Given the description of an element on the screen output the (x, y) to click on. 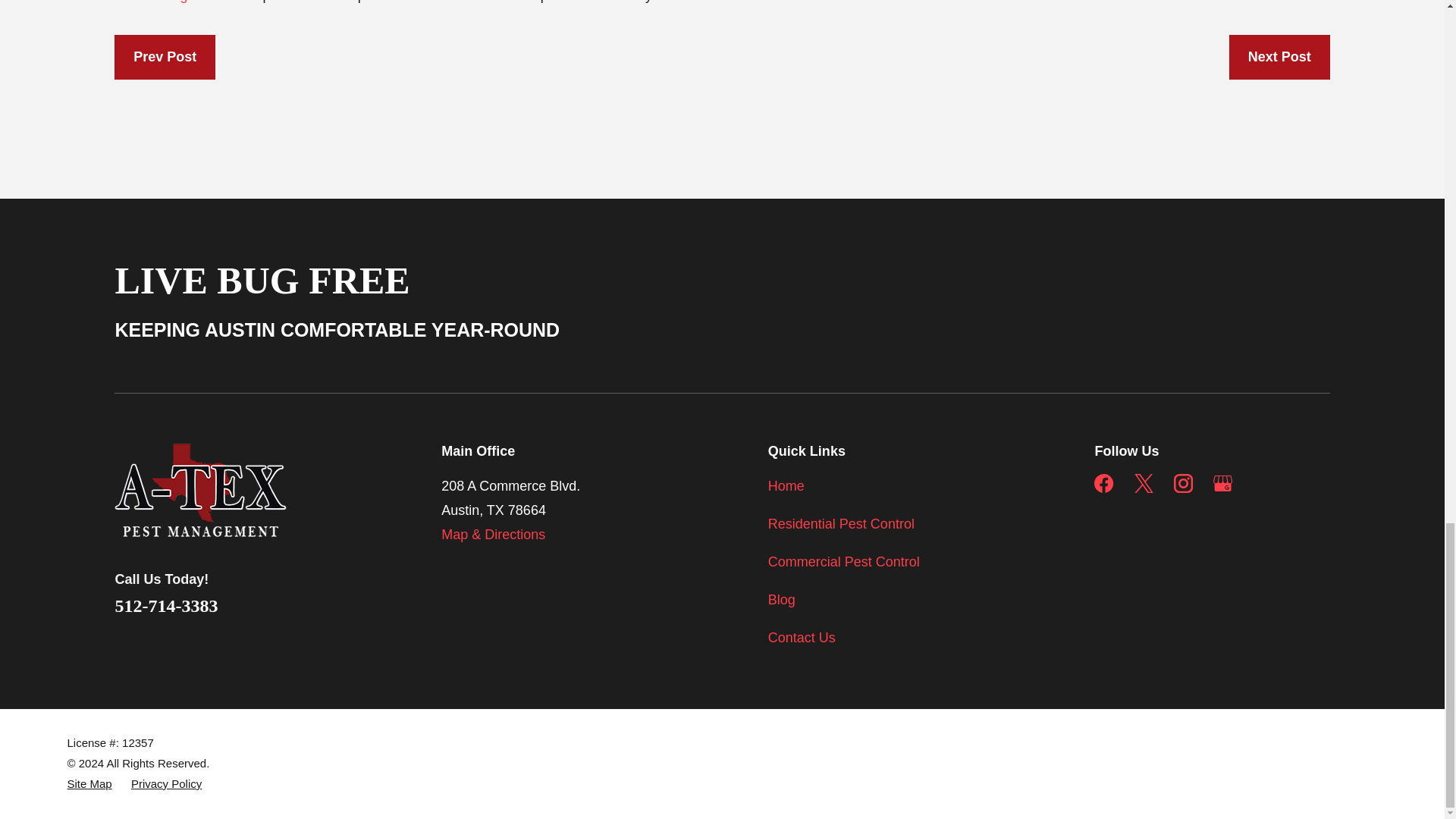
Facebook (1103, 483)
Home (224, 490)
Google Business Profile (1221, 483)
Instagram (1182, 483)
Twitter (1143, 483)
